Given the description of an element on the screen output the (x, y) to click on. 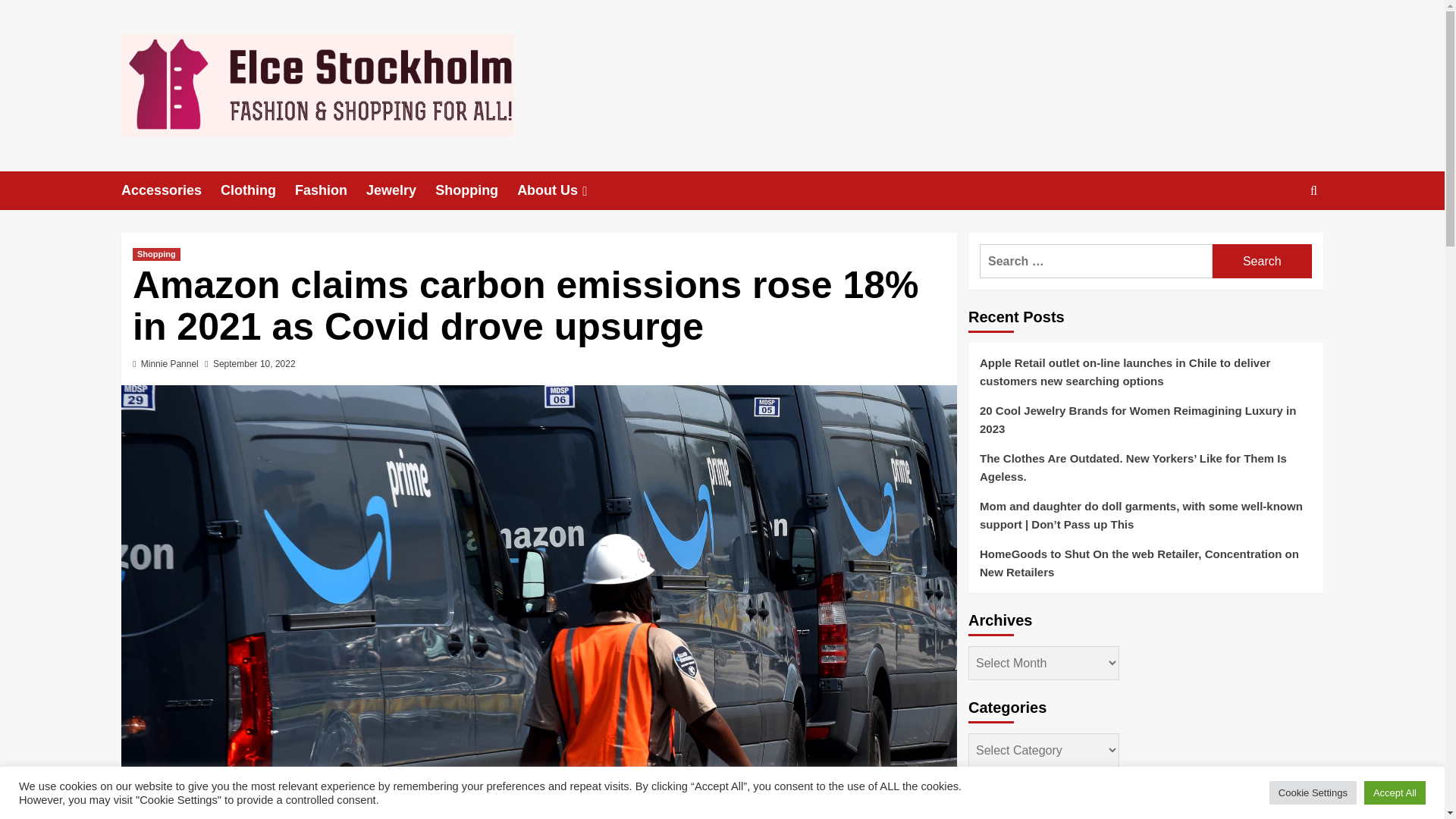
About Us (563, 190)
Search (1261, 261)
Shopping (156, 254)
Accessories (170, 190)
September 10, 2022 (253, 363)
Search (1278, 237)
Search (1261, 261)
Jewelry (400, 190)
Minnie Pannel (169, 363)
Fashion (330, 190)
